Given the description of an element on the screen output the (x, y) to click on. 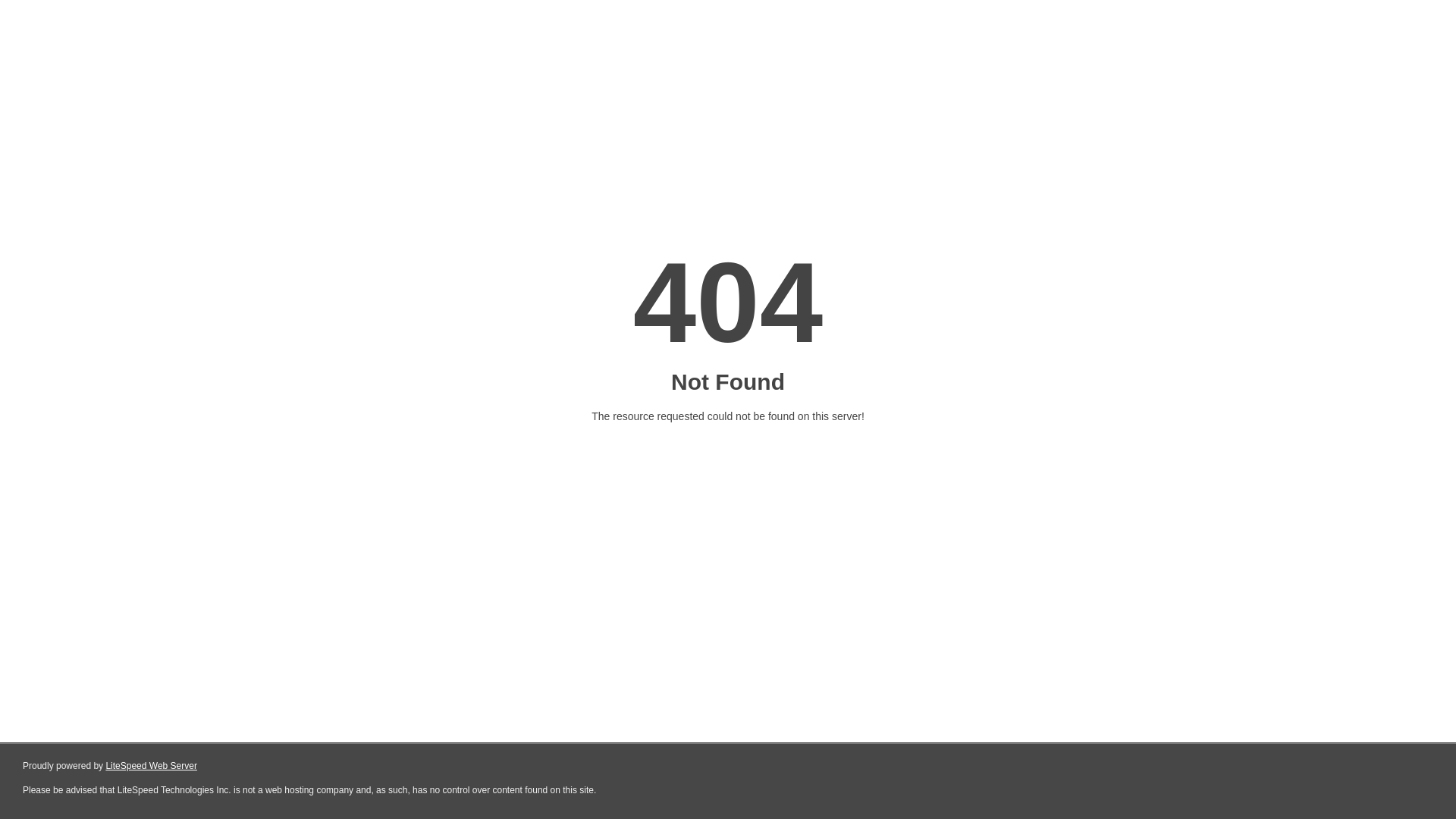
LiteSpeed Web Server Element type: text (151, 765)
